Given the description of an element on the screen output the (x, y) to click on. 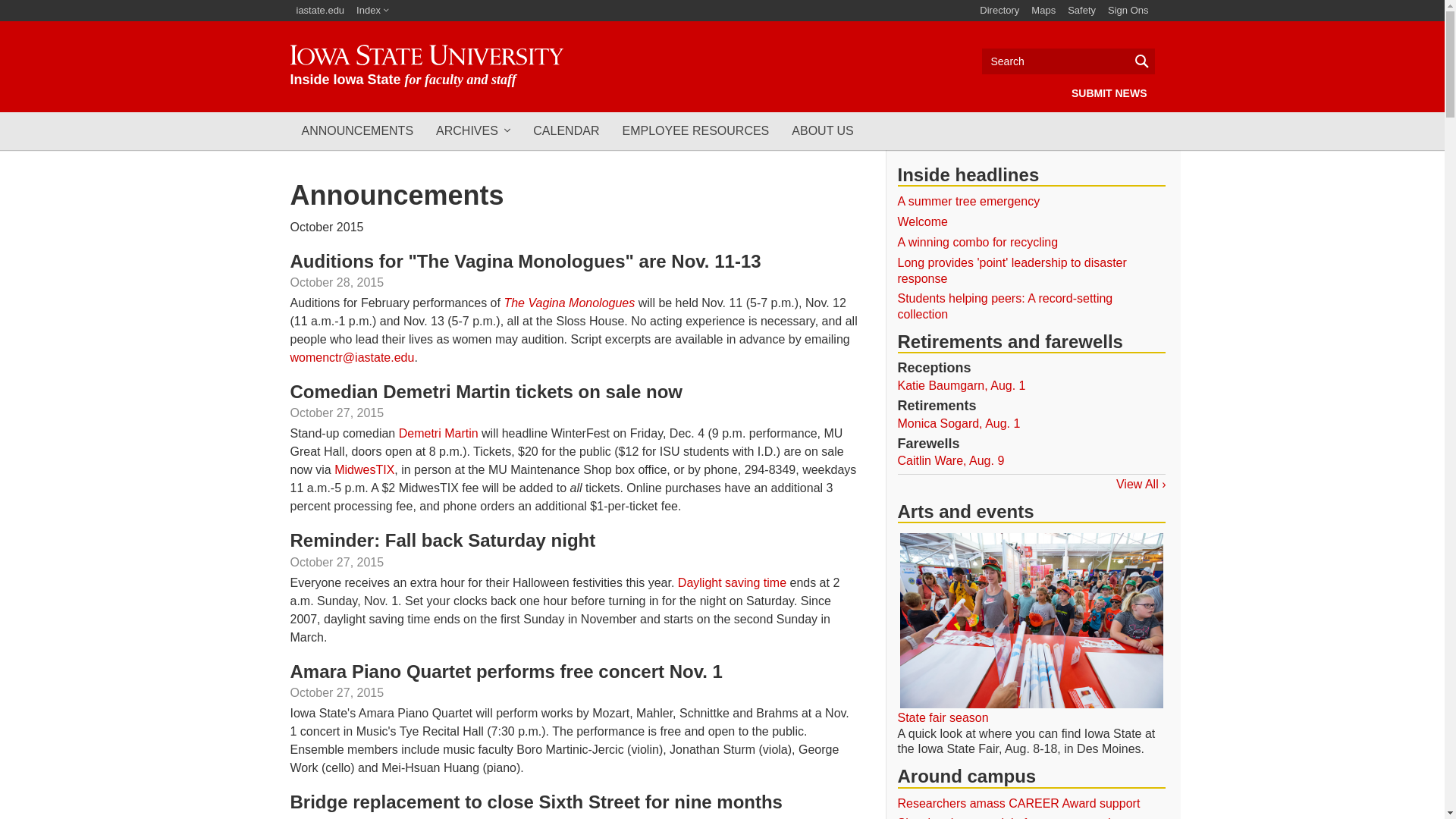
Directory (999, 10)
Maps (1043, 10)
SUBMIT NEWS (1109, 93)
Index (372, 10)
ARCHIVES (473, 130)
iastate.edu (319, 10)
Home (425, 66)
ANNOUNCEMENTS (357, 130)
Safety (1081, 10)
Search (1067, 61)
Sign Ons (1128, 10)
